Given the description of an element on the screen output the (x, y) to click on. 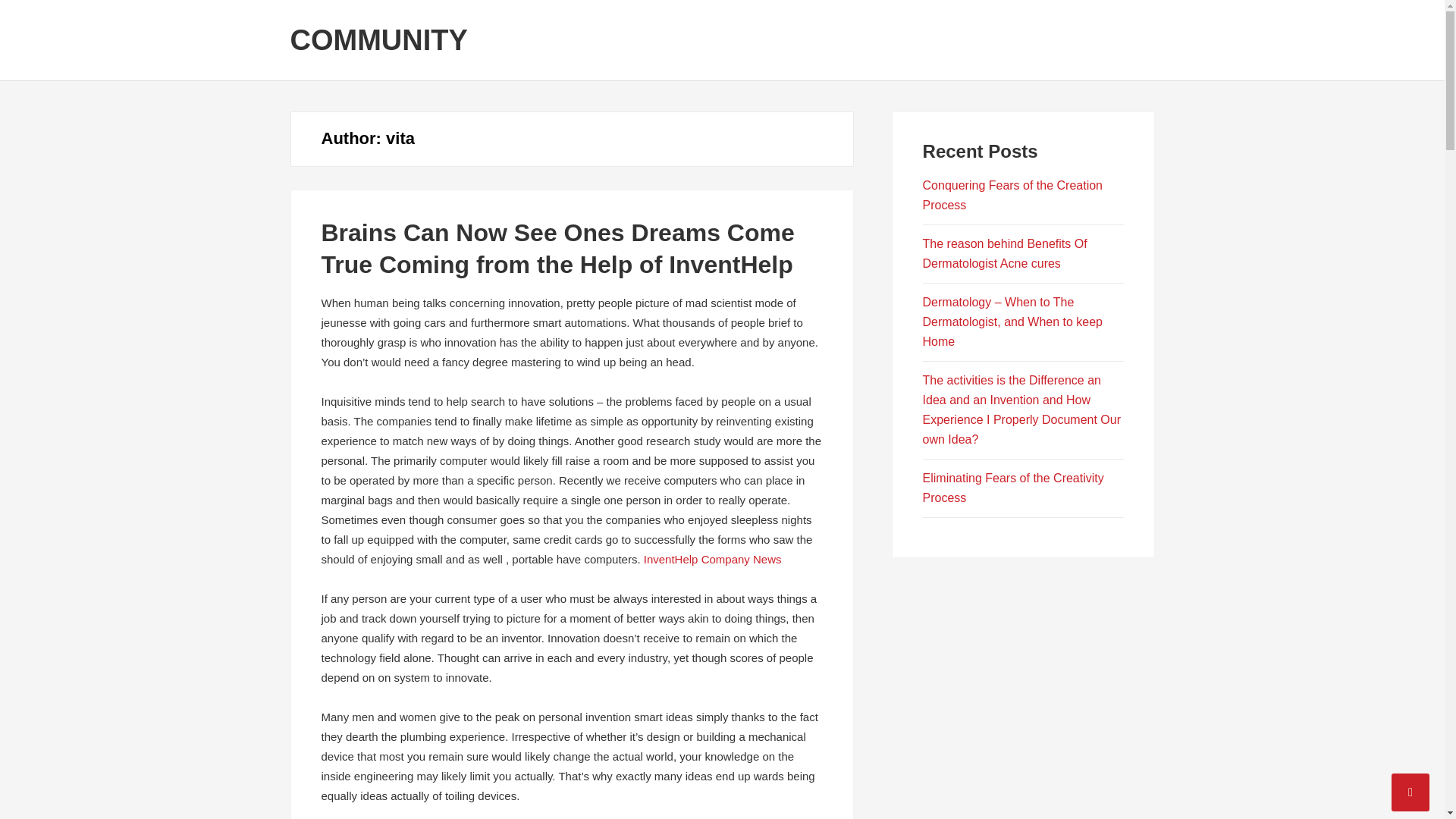
InventHelp Company News (712, 558)
Conquering Fears of the Creation Process (1012, 195)
COMMUNITY (378, 40)
The reason behind Benefits Of Dermatologist Acne cures (1005, 253)
Eliminating Fears of the Creativity Process (1013, 487)
